Given the description of an element on the screen output the (x, y) to click on. 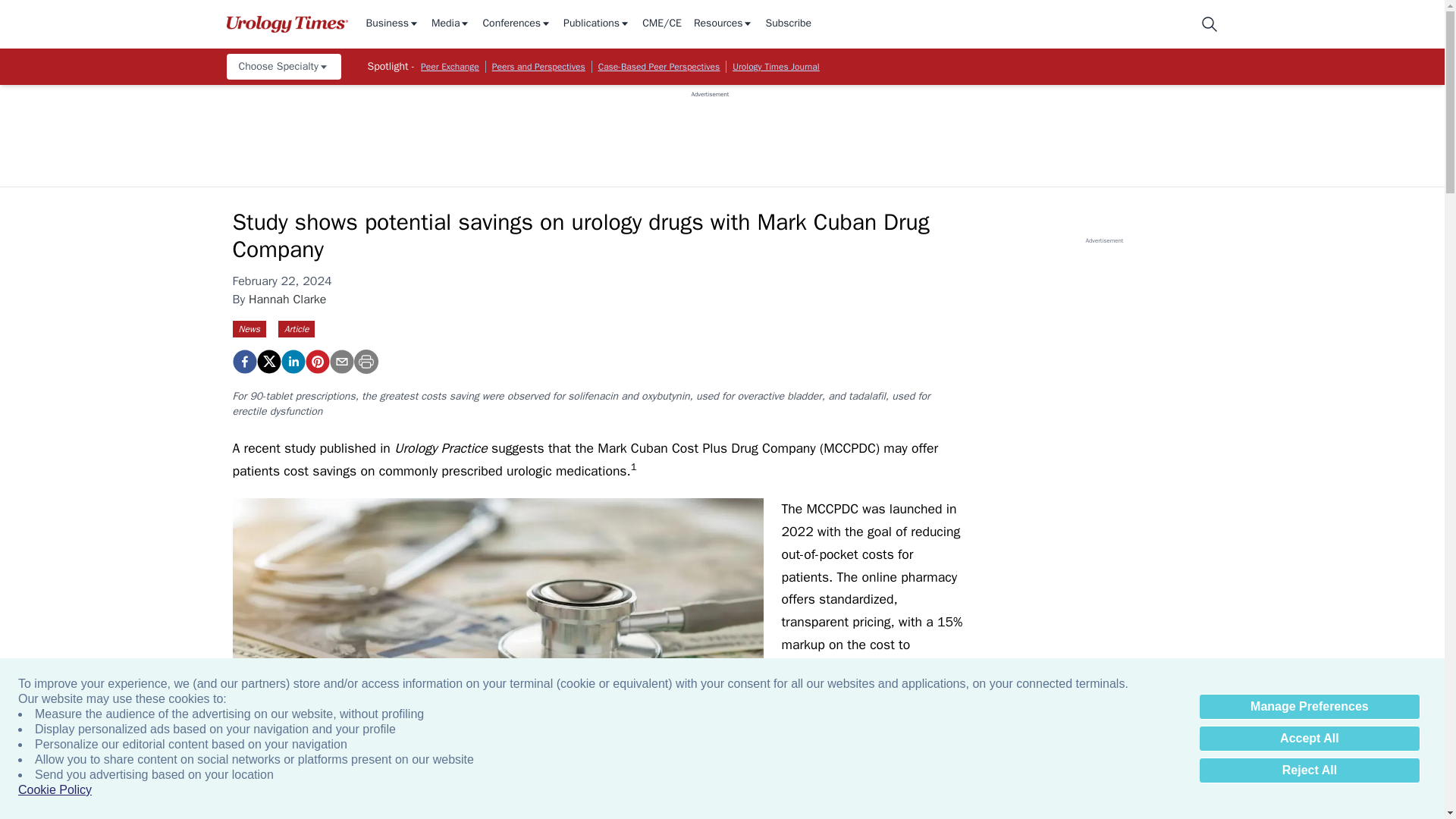
Reject All (1309, 769)
Accept All (1309, 738)
3rd party ad content (709, 132)
Media (450, 23)
Cookie Policy (54, 789)
Resources (724, 23)
Conferences (516, 23)
Publications (596, 23)
